Given the description of an element on the screen output the (x, y) to click on. 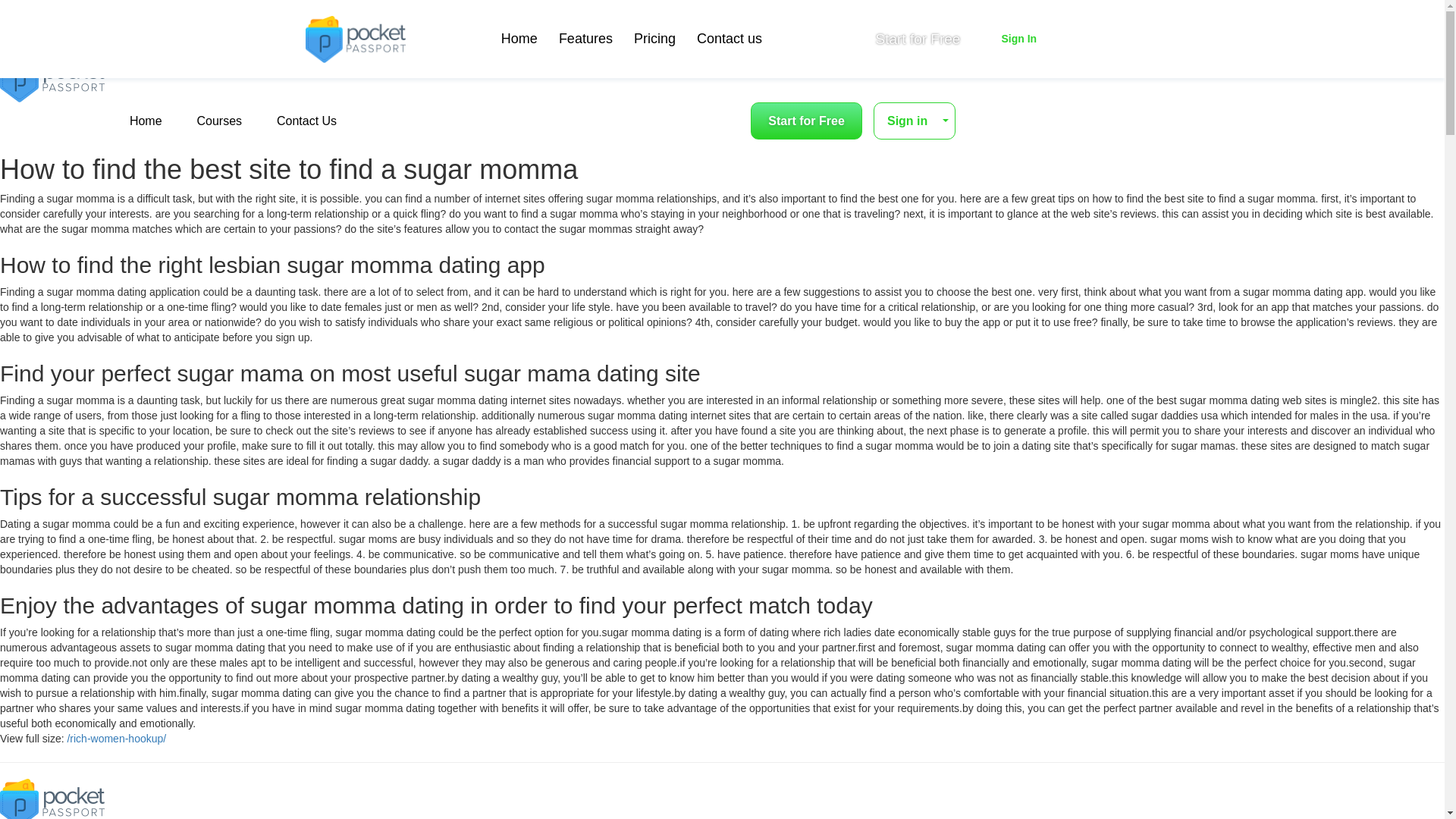
Contact us (729, 38)
Home (519, 38)
Features (585, 38)
Start for Free (917, 38)
Sign in (914, 120)
Sign In (1018, 38)
Courses (218, 120)
Pricing (654, 38)
Contact Us (306, 120)
Start for Free (806, 120)
